Given the description of an element on the screen output the (x, y) to click on. 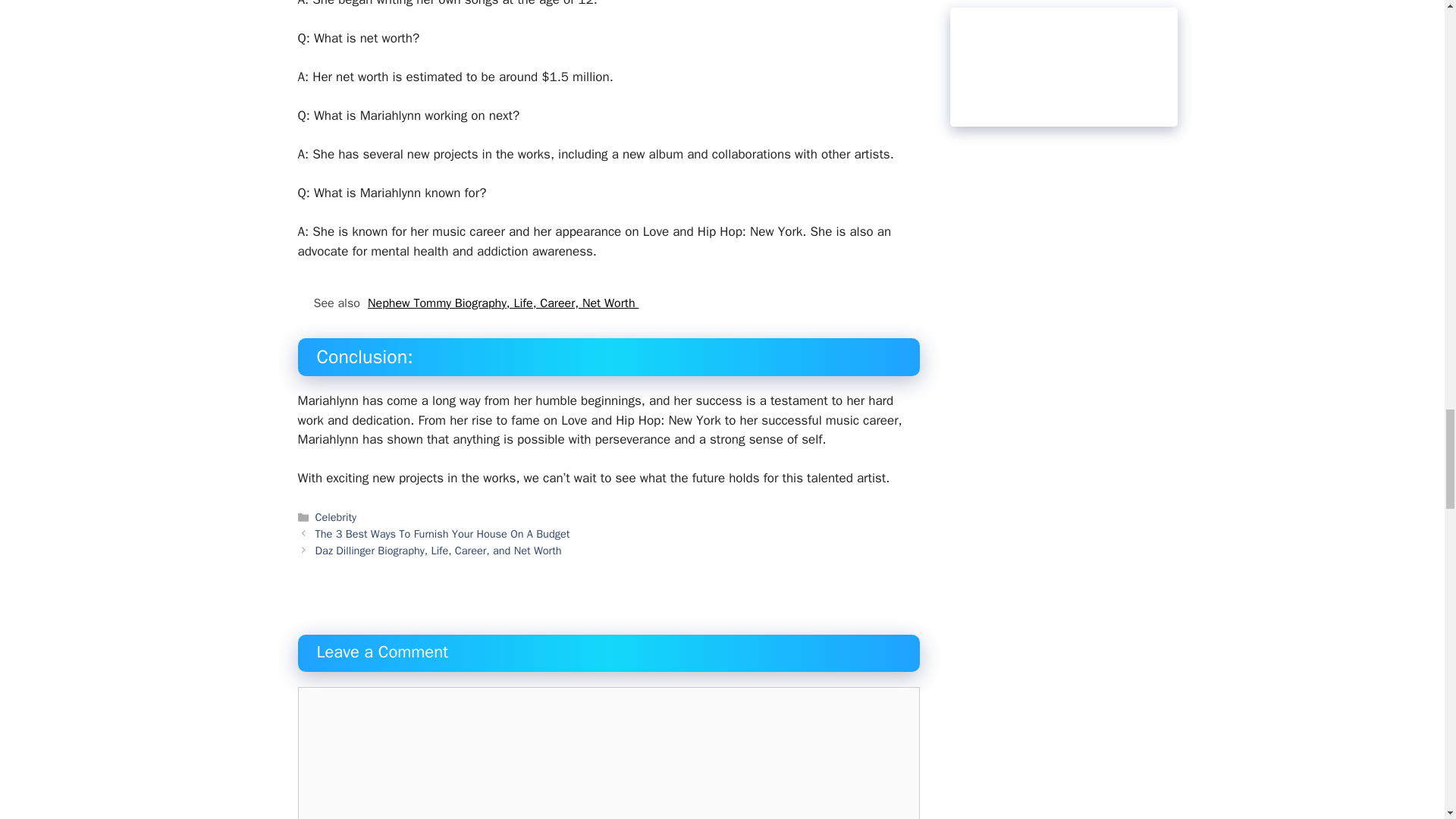
Celebrity (335, 517)
See also  Nephew Tommy Biography, Life, Career, Net Worth  (607, 302)
The 3 Best Ways To Furnish Your House On A Budget (442, 533)
Daz Dillinger Biography, Life, Career, and Net Worth (438, 550)
